Given the description of an element on the screen output the (x, y) to click on. 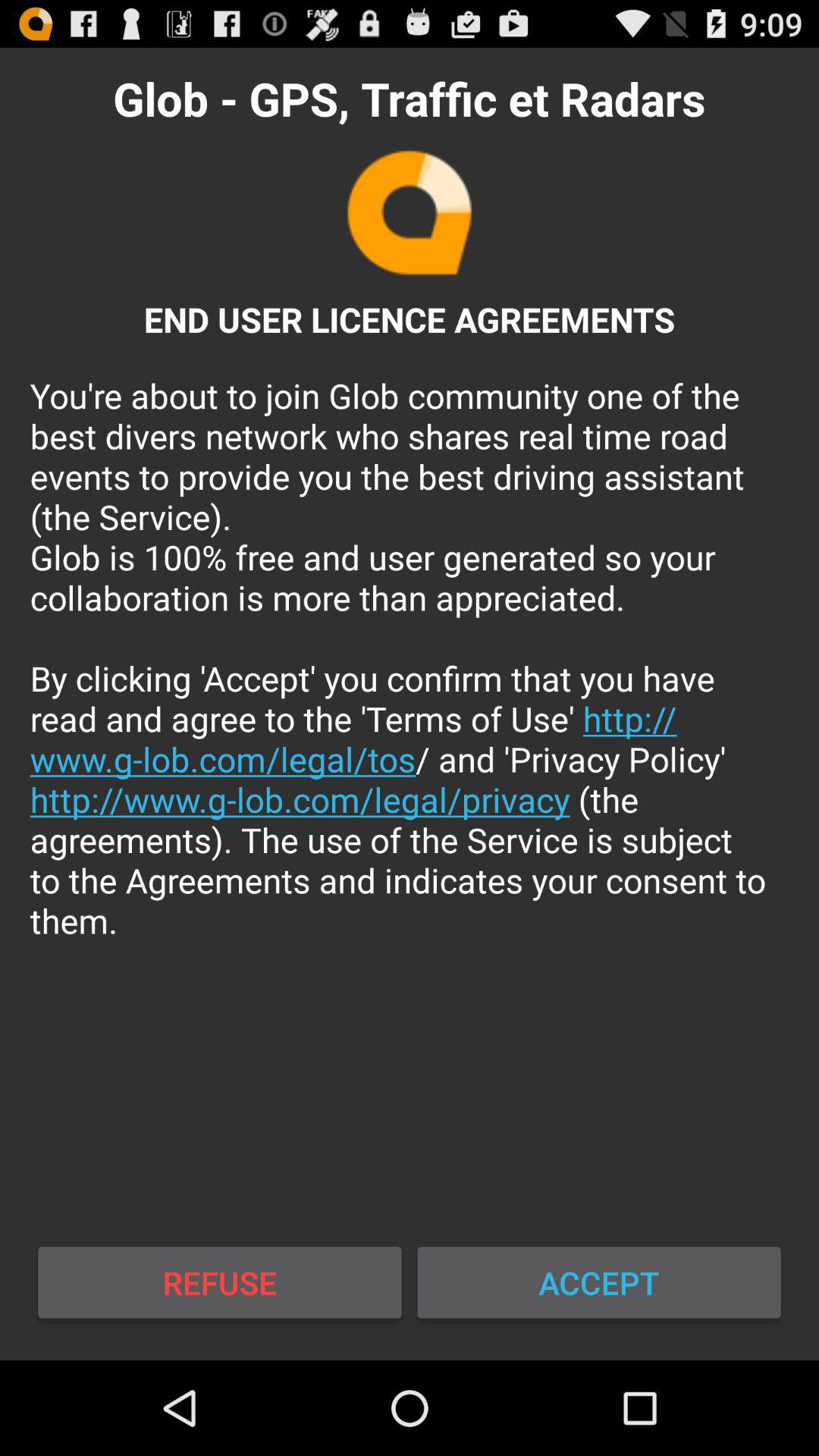
jump to accept item (598, 1282)
